Given the description of an element on the screen output the (x, y) to click on. 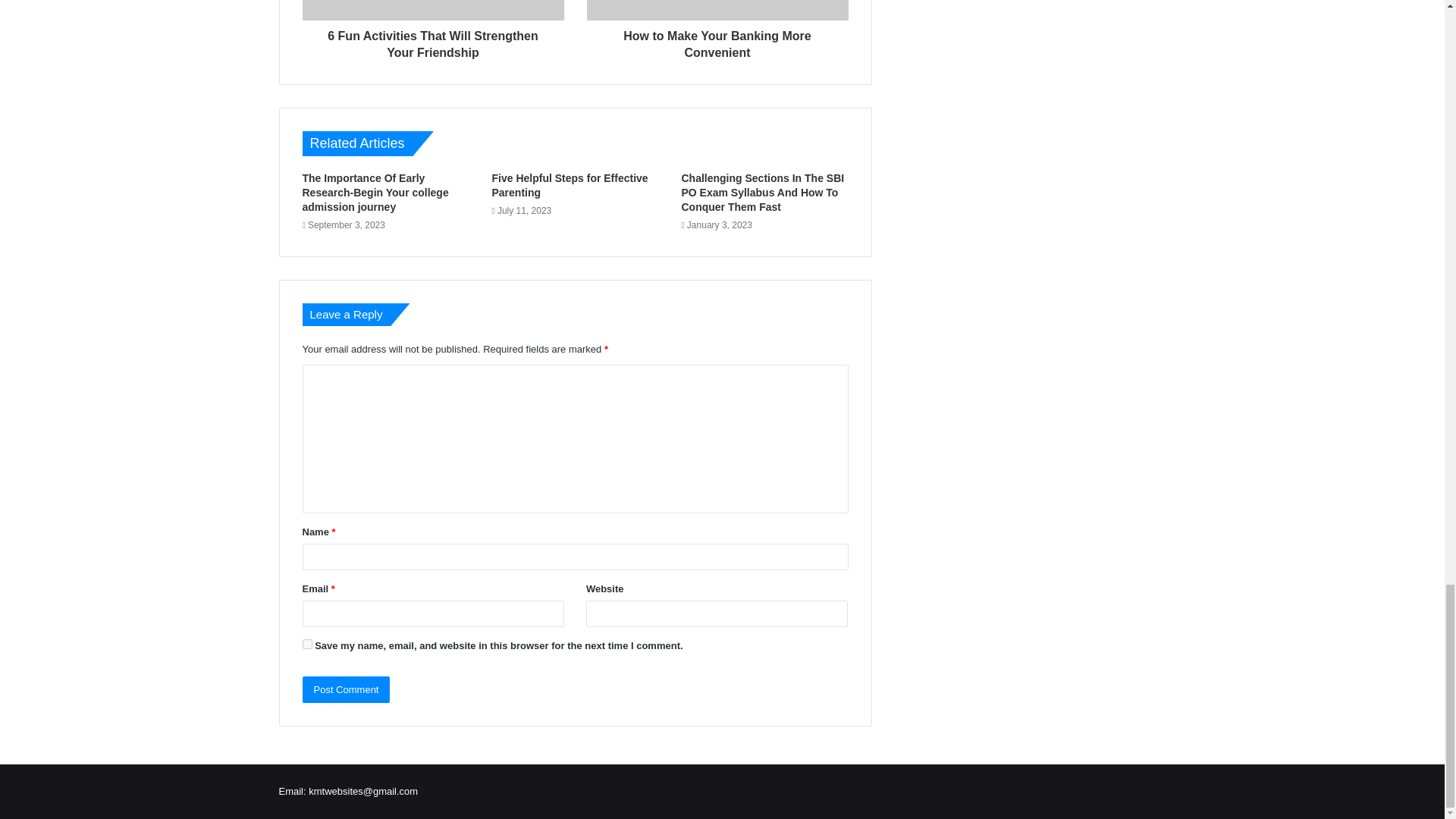
How to Make Your Banking More Convenient (717, 40)
Five Helpful Steps for Effective Parenting (569, 185)
6 Fun Activities That Will Strengthen Your Friendship (432, 40)
Post Comment (345, 689)
yes (306, 644)
